Given the description of an element on the screen output the (x, y) to click on. 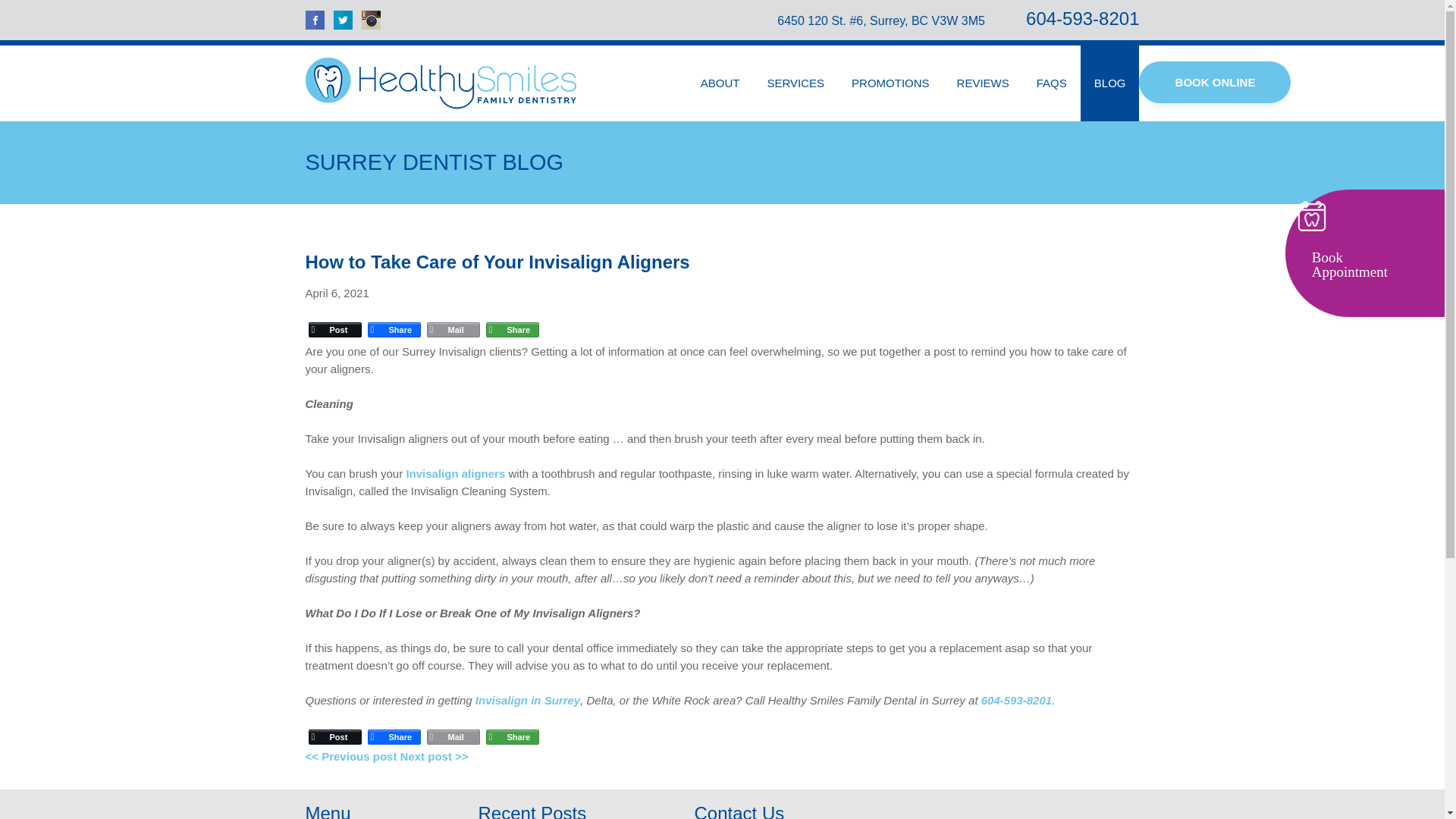
ABOUT (720, 83)
